Given the description of an element on the screen output the (x, y) to click on. 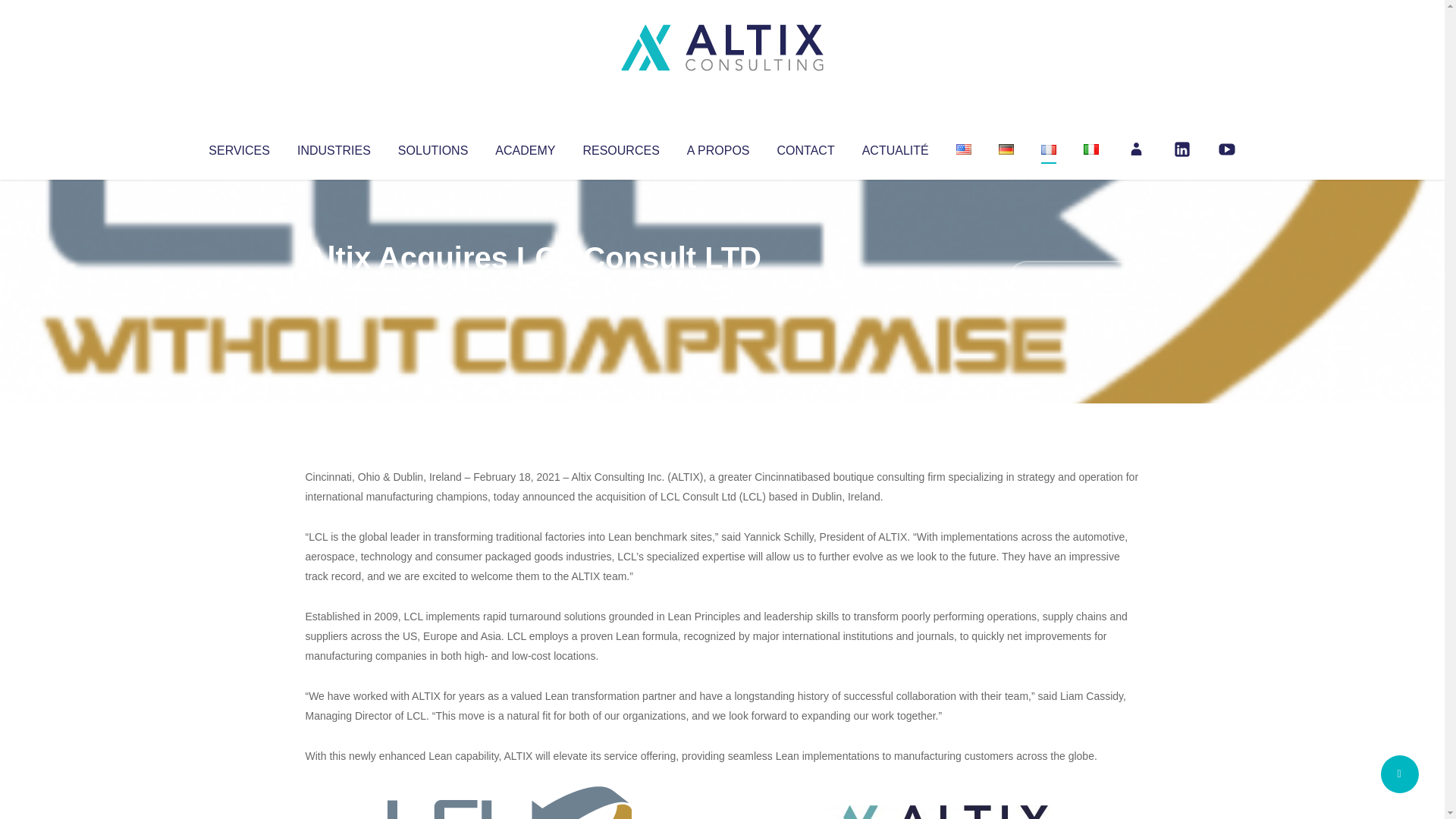
Articles par Altix (333, 287)
A PROPOS (718, 146)
INDUSTRIES (334, 146)
SOLUTIONS (432, 146)
SERVICES (238, 146)
Uncategorized (530, 287)
Altix (333, 287)
RESOURCES (620, 146)
No Comments (1073, 278)
ACADEMY (524, 146)
